Given the description of an element on the screen output the (x, y) to click on. 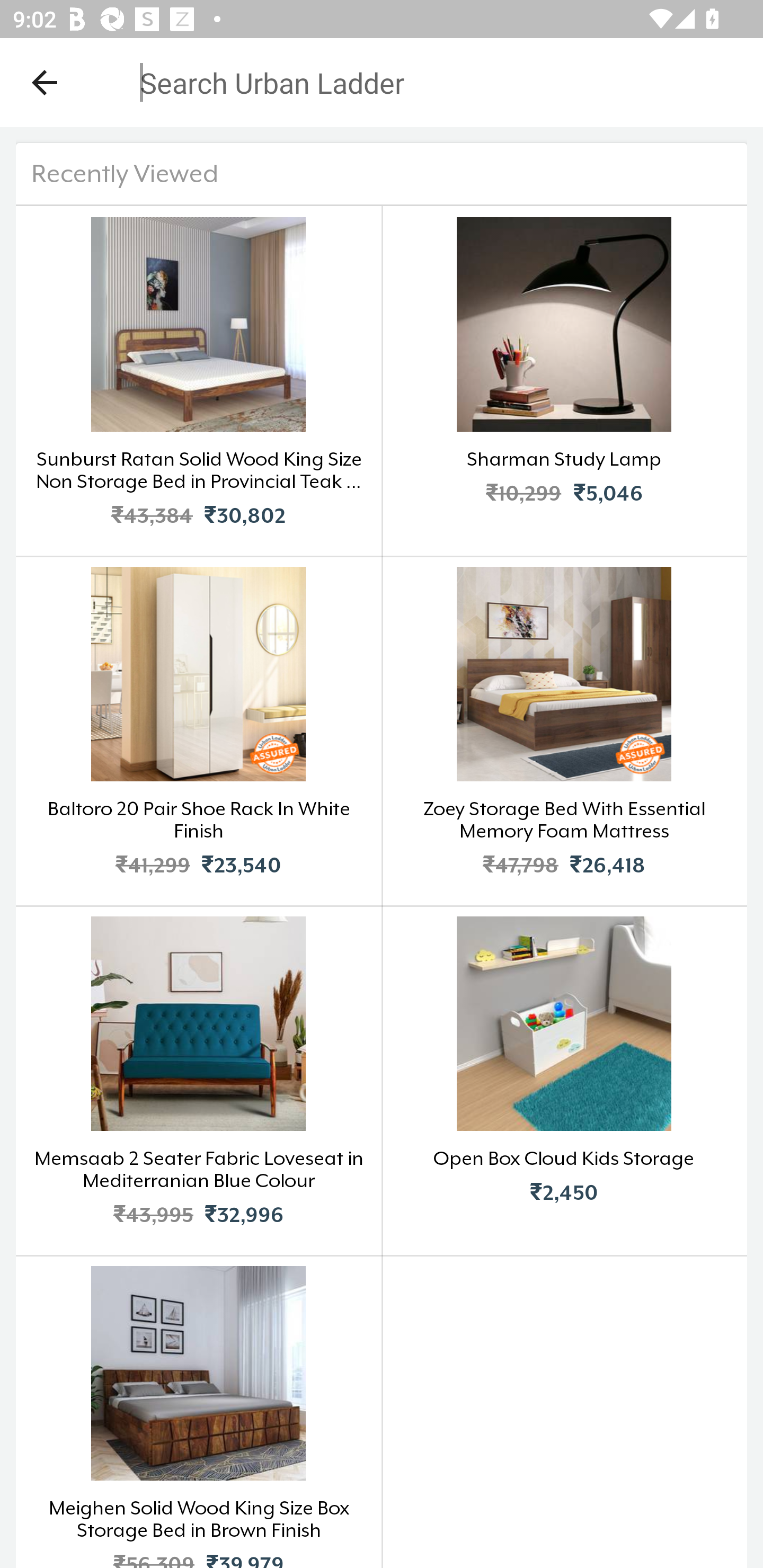
Collapse (44, 82)
Search Urban Ladder (368, 82)
Search Urban Ladder  (381, 159)
Sharman Study Lamp ₹10,299 ₹5,046 (564, 379)
Open Box Cloud Kids Storage ₹2,450 (564, 1079)
